Given the description of an element on the screen output the (x, y) to click on. 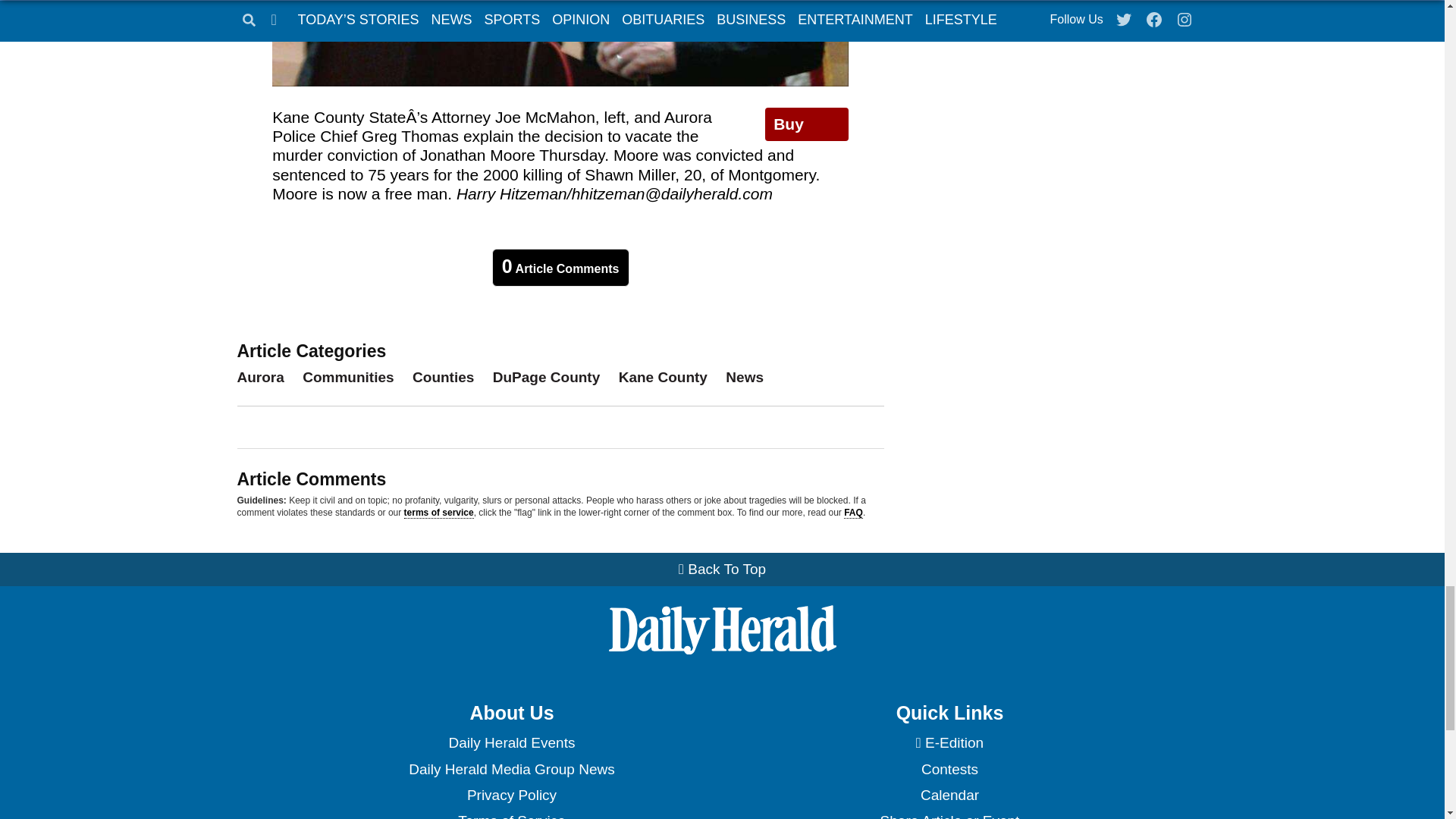
Contests (949, 769)
Privacy Policy (511, 795)
Daily Herald Events (511, 742)
Daily Herald Digital Newspaper (949, 742)
Terms of Service (511, 813)
Daily Herald Media Group News (511, 769)
